Given the description of an element on the screen output the (x, y) to click on. 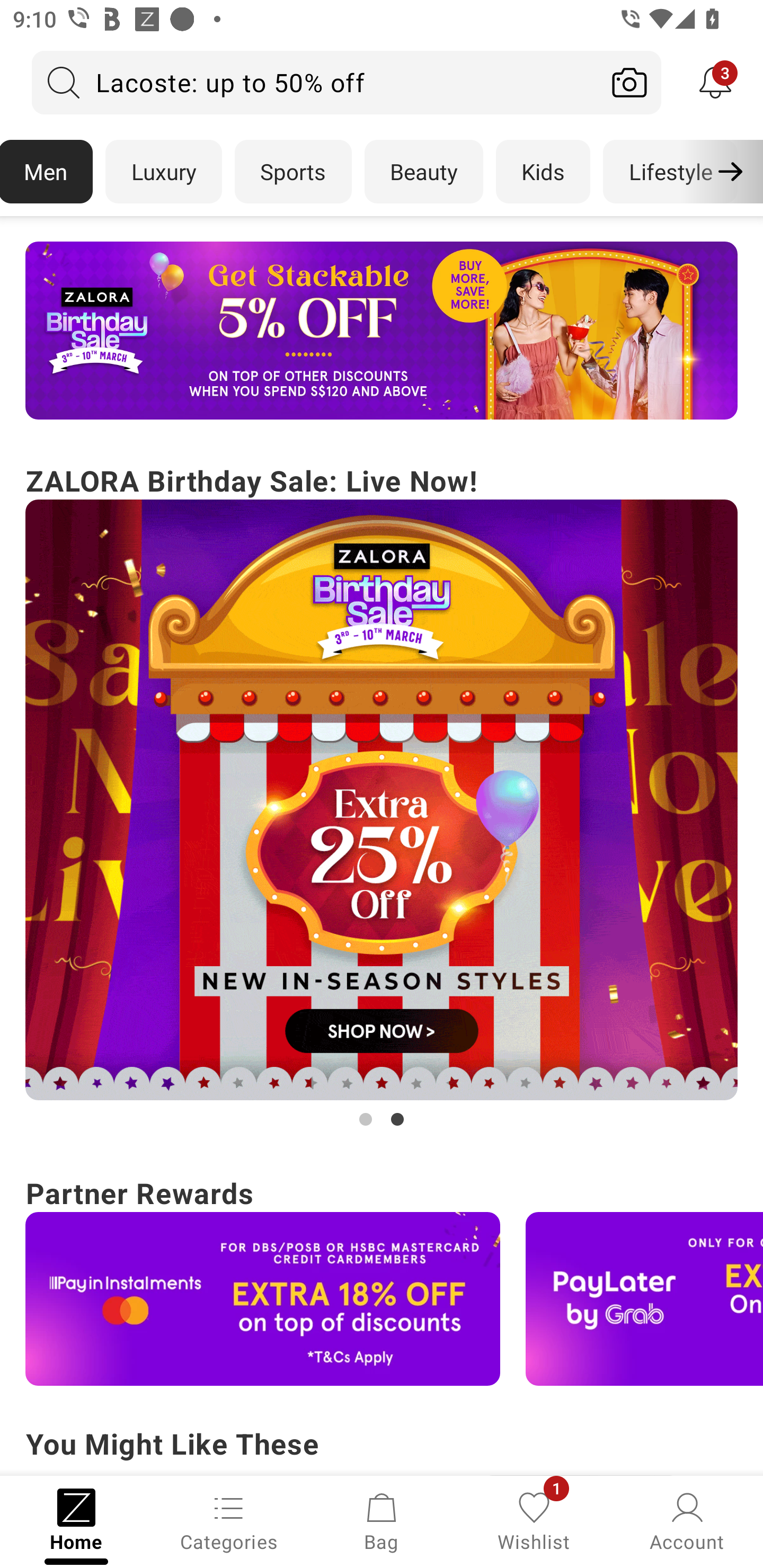
Lacoste: up to 50% off (314, 82)
Men (46, 171)
Luxury (163, 171)
Sports (293, 171)
Beauty (423, 171)
Kids (542, 171)
Lifestyle (669, 171)
Campaign banner (381, 330)
ZALORA Birthday Sale: Live Now! Campaign banner (381, 794)
Campaign banner (381, 800)
Partner Rewards Campaign banner Campaign banner (381, 1277)
Campaign banner (262, 1299)
Campaign banner (644, 1299)
Categories (228, 1519)
Bag (381, 1519)
Wishlist, 1 new notification Wishlist (533, 1519)
Account (686, 1519)
